Given the description of an element on the screen output the (x, y) to click on. 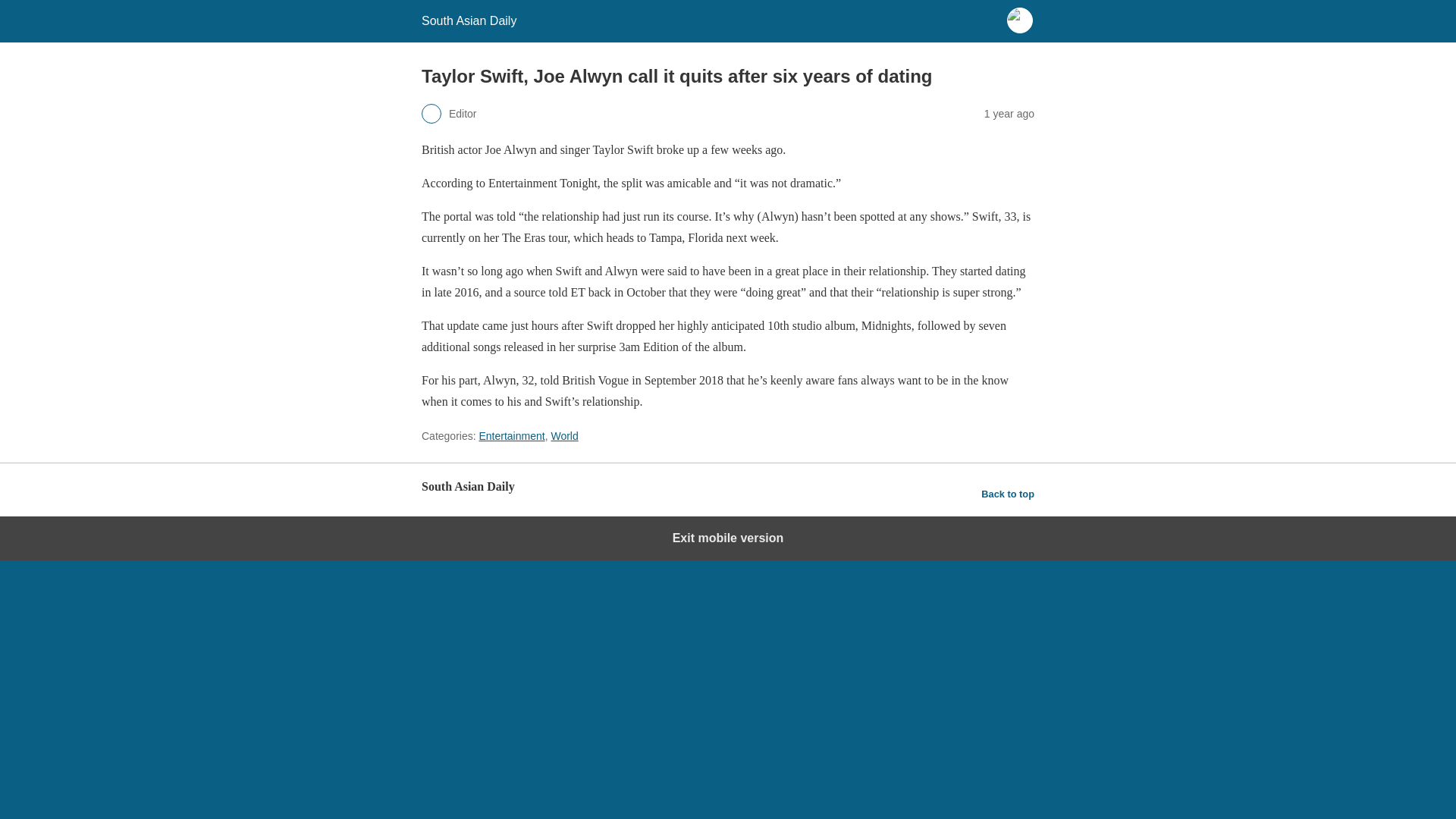
South Asian Daily (469, 20)
Back to top (1007, 494)
World (564, 435)
Entertainment (511, 435)
